Given the description of an element on the screen output the (x, y) to click on. 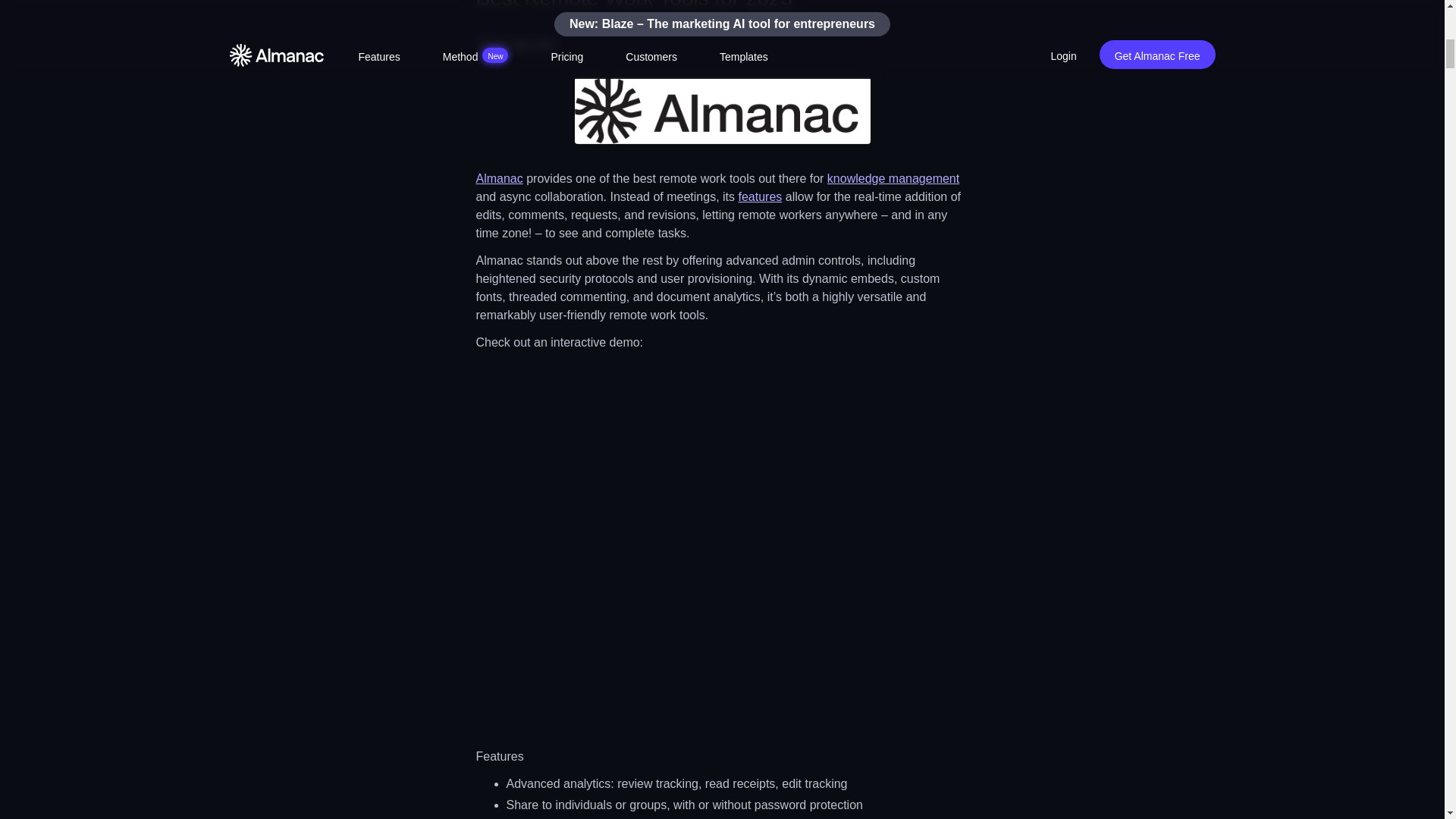
knowledge management (893, 178)
Almanac (499, 178)
features (759, 196)
